Given the description of an element on the screen output the (x, y) to click on. 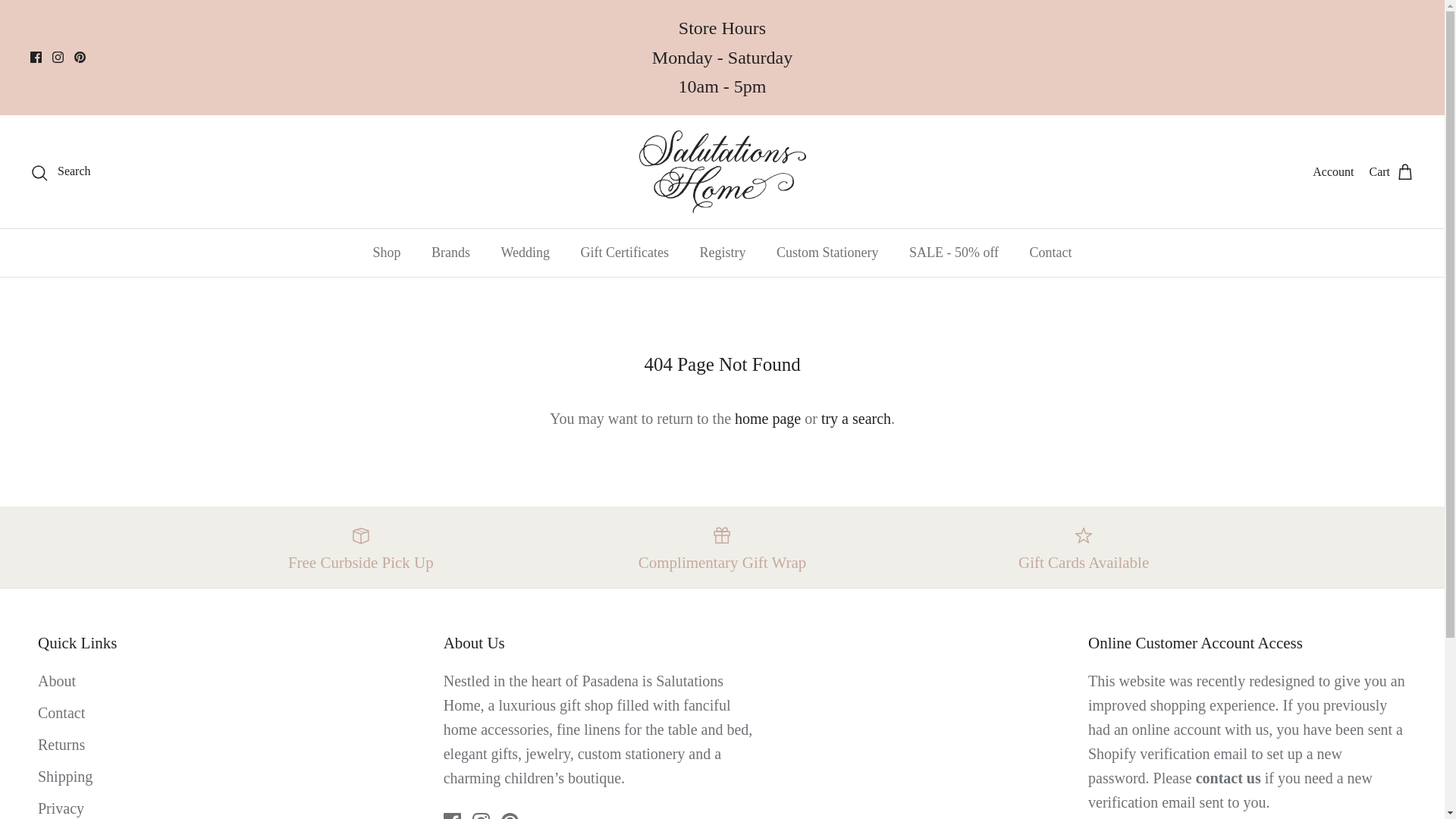
Pinterest (79, 57)
Pinterest (79, 57)
Cart (1390, 170)
Search (60, 170)
Facebook (452, 816)
Contact (1227, 777)
Salutations Home (722, 171)
Shop (385, 252)
Facebook (36, 57)
Account (1333, 171)
